Given the description of an element on the screen output the (x, y) to click on. 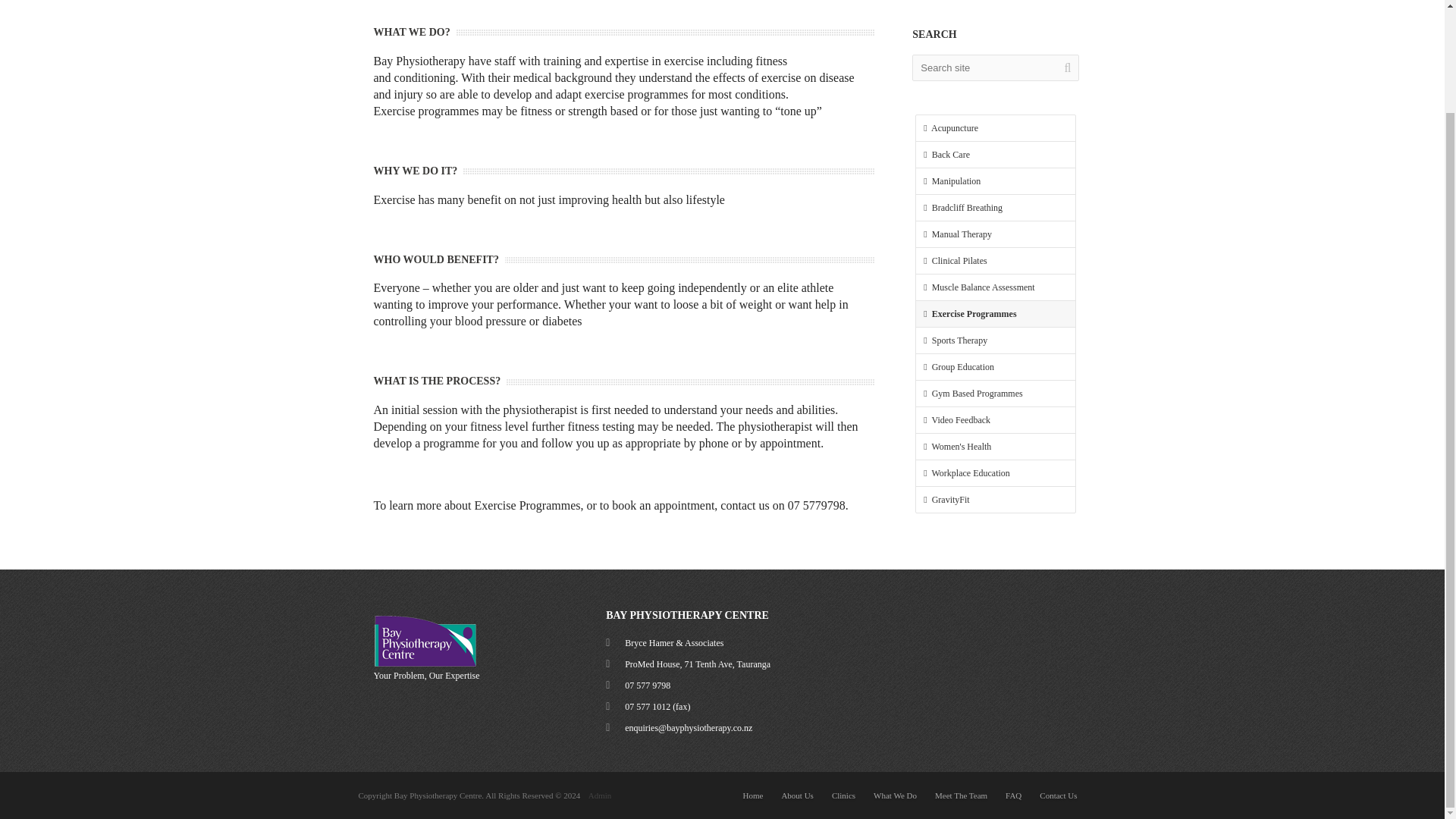
  Gym Based Programmes (994, 393)
  Manual Therapy (994, 234)
  Women's Health (994, 446)
  Group Education (994, 366)
  Back Care (994, 154)
  Sports Therapy (994, 339)
  Acupuncture (994, 127)
  Bradcliff Breathing (994, 207)
  Clinical Pilates (994, 260)
  Video Feedback (994, 420)
